Given the description of an element on the screen output the (x, y) to click on. 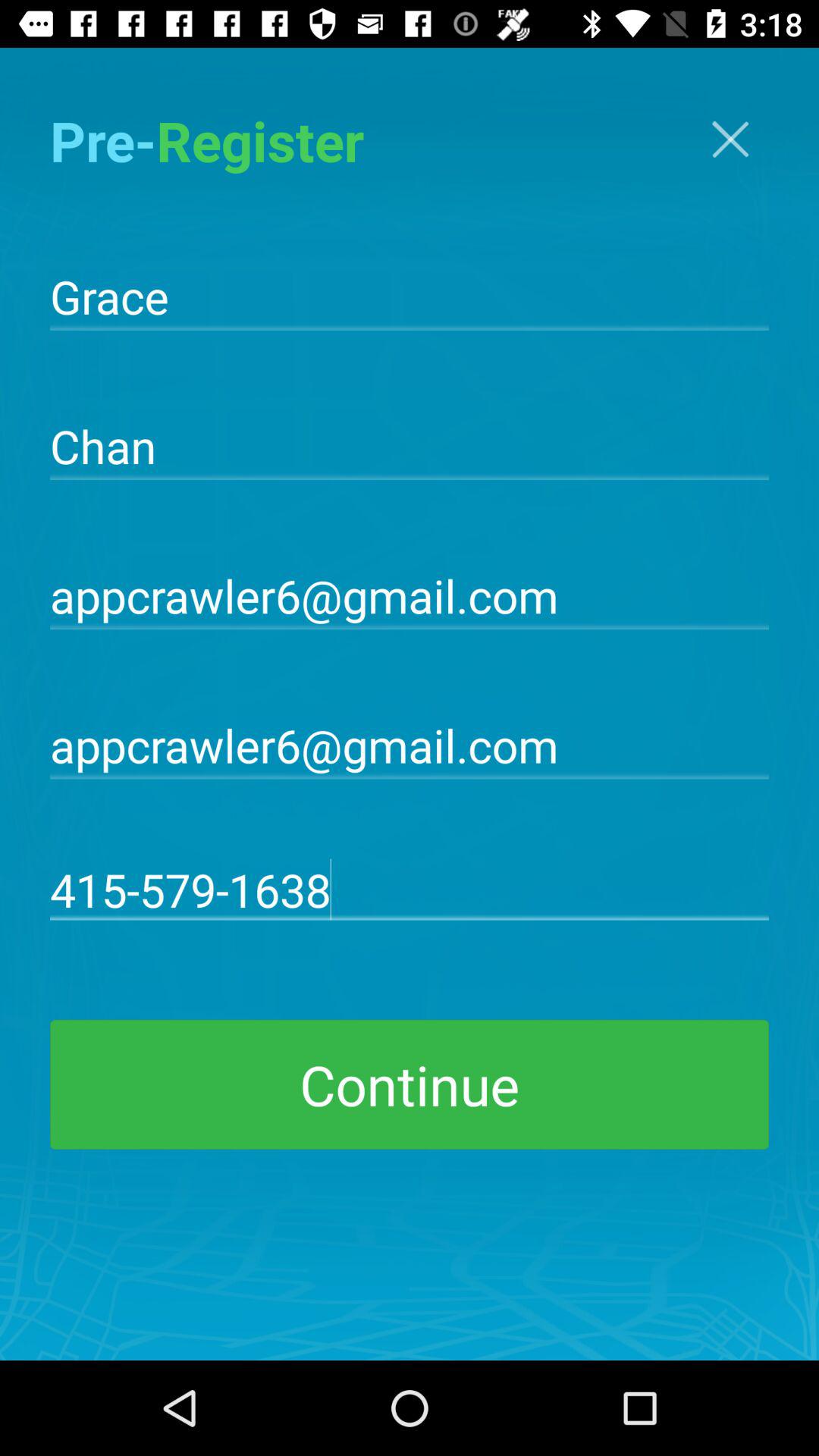
flip until the 415-579-1638 icon (409, 889)
